Given the description of an element on the screen output the (x, y) to click on. 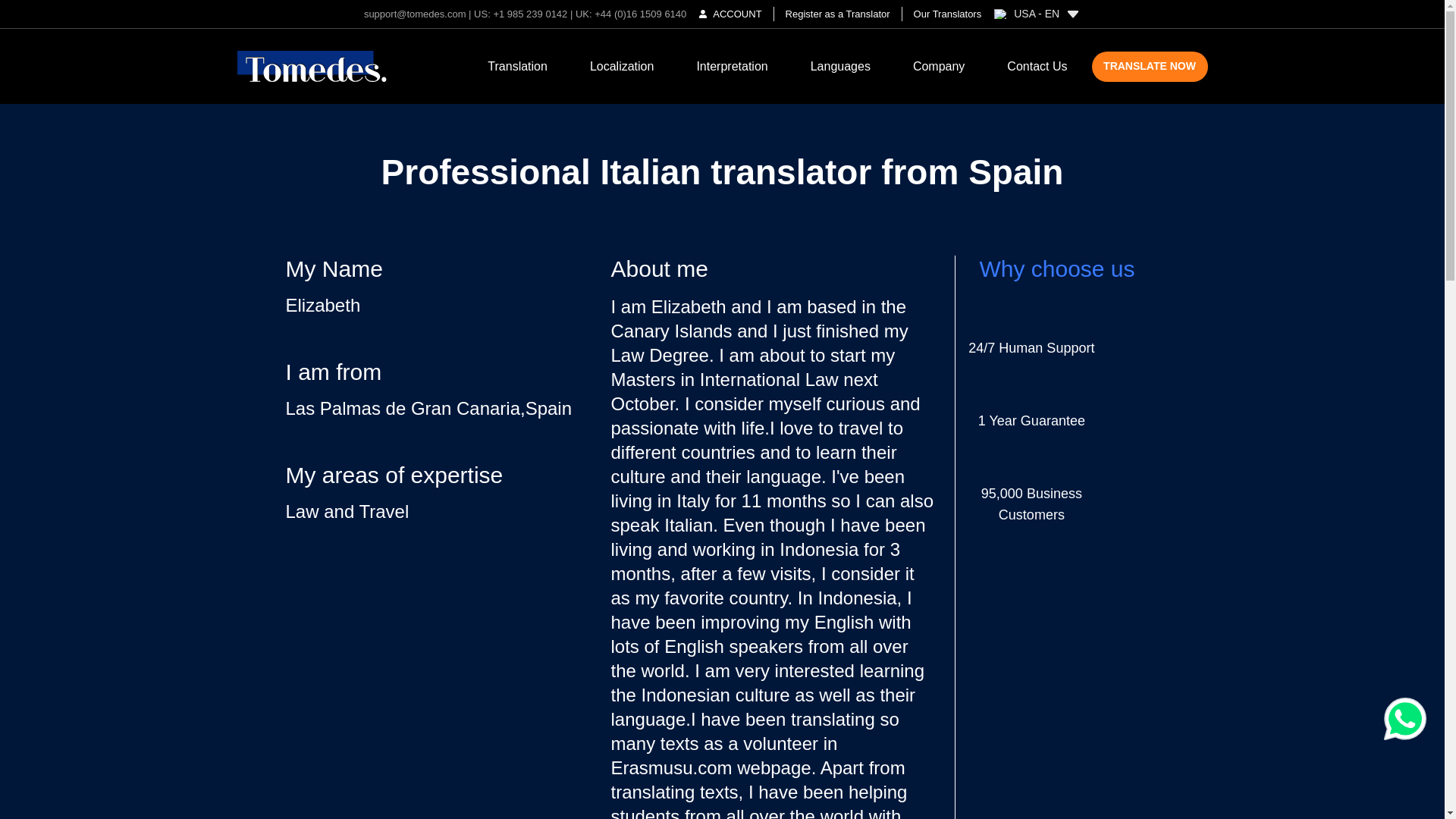
Translation (517, 65)
Our Translators (941, 14)
Interpretation (731, 65)
Register as a Translator (837, 14)
Localization (621, 65)
ACCOUNT (729, 14)
